Given the description of an element on the screen output the (x, y) to click on. 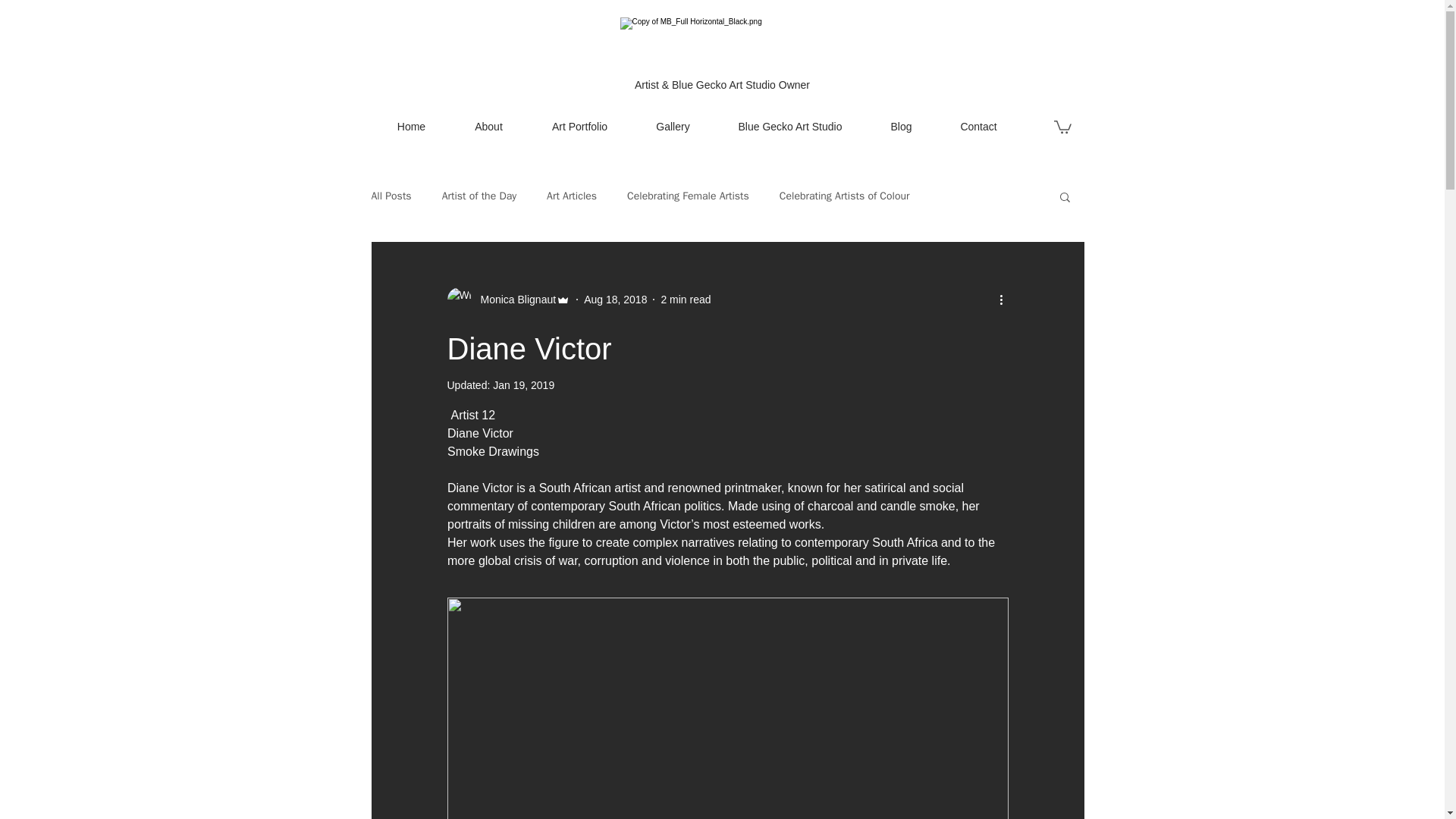
Celebrating Female Artists (688, 196)
All Posts (391, 196)
About (488, 126)
Aug 18, 2018 (614, 299)
Jan 19, 2019 (523, 385)
Monica Blignaut (513, 299)
2 min read (685, 299)
Blue Gecko Art Studio (790, 126)
Artist of the Day (479, 196)
Monica Blignaut (508, 299)
